Given the description of an element on the screen output the (x, y) to click on. 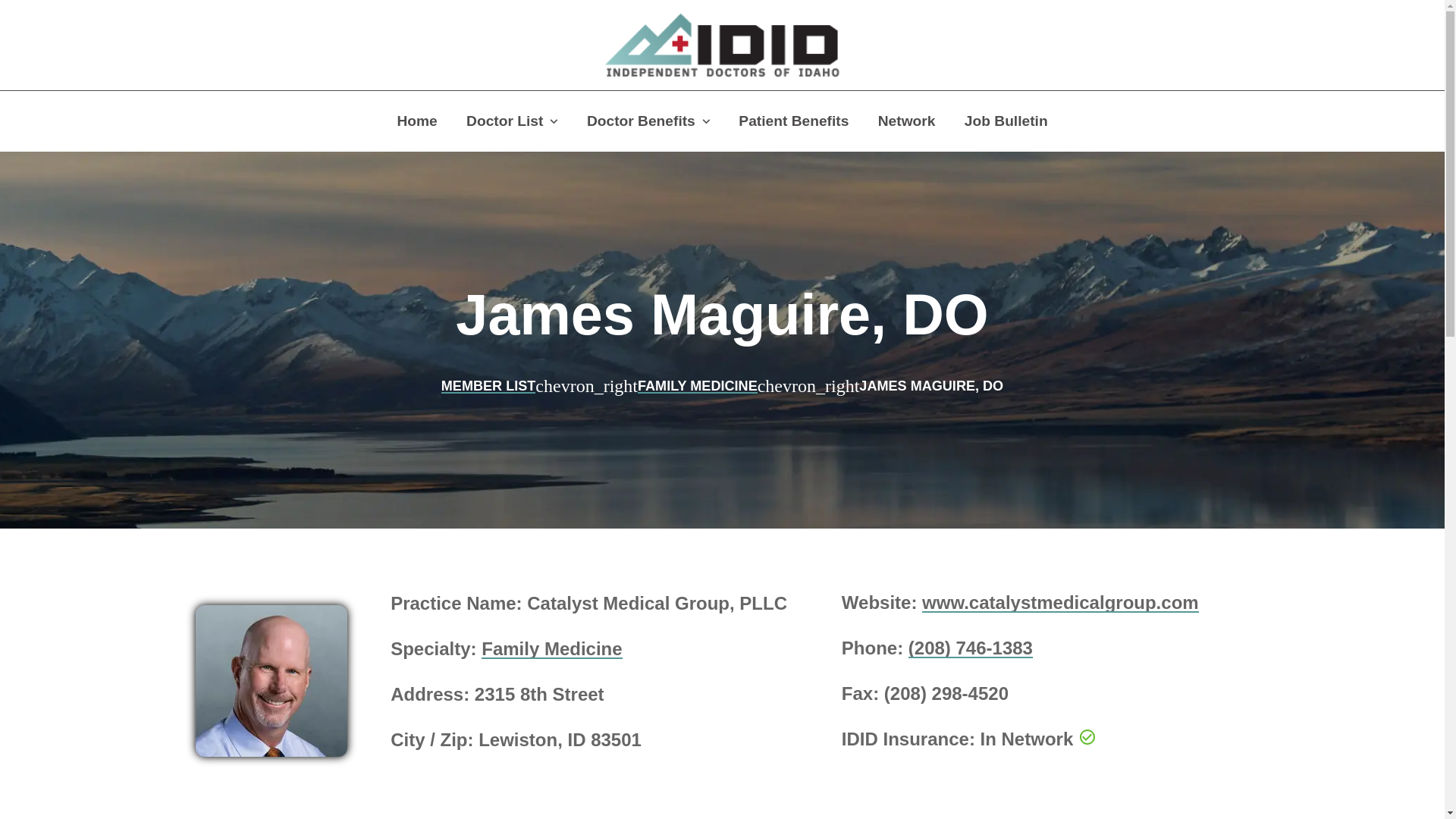
MEMBER LIST (488, 385)
www.catalystmedicalgroup.com (1059, 602)
Family Medicine (551, 648)
Patient Benefits (793, 121)
Home (416, 121)
Job Bulletin (1006, 121)
Network (906, 121)
FAMILY MEDICINE (697, 385)
